Given the description of an element on the screen output the (x, y) to click on. 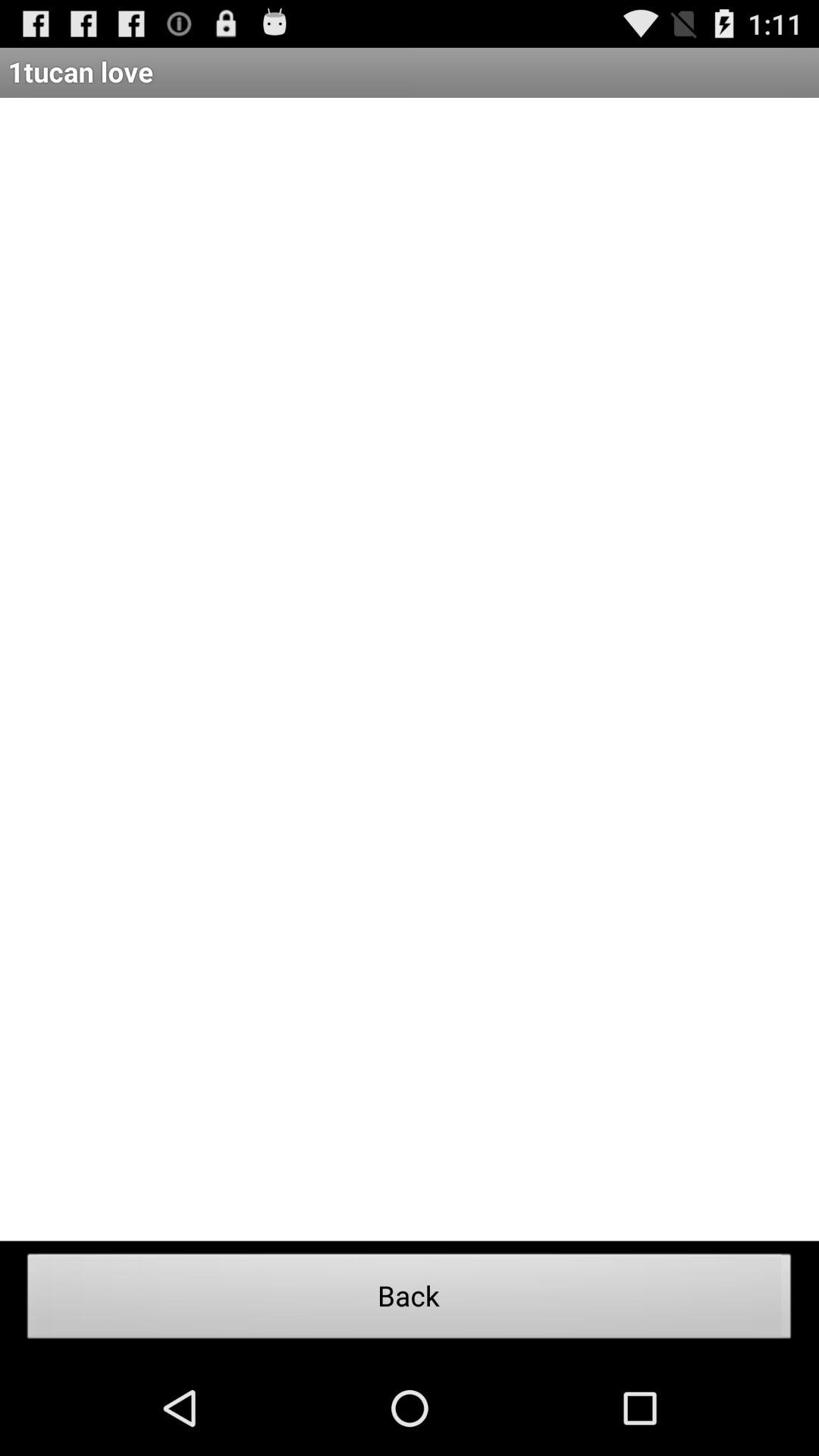
turn on the back (409, 1300)
